Given the description of an element on the screen output the (x, y) to click on. 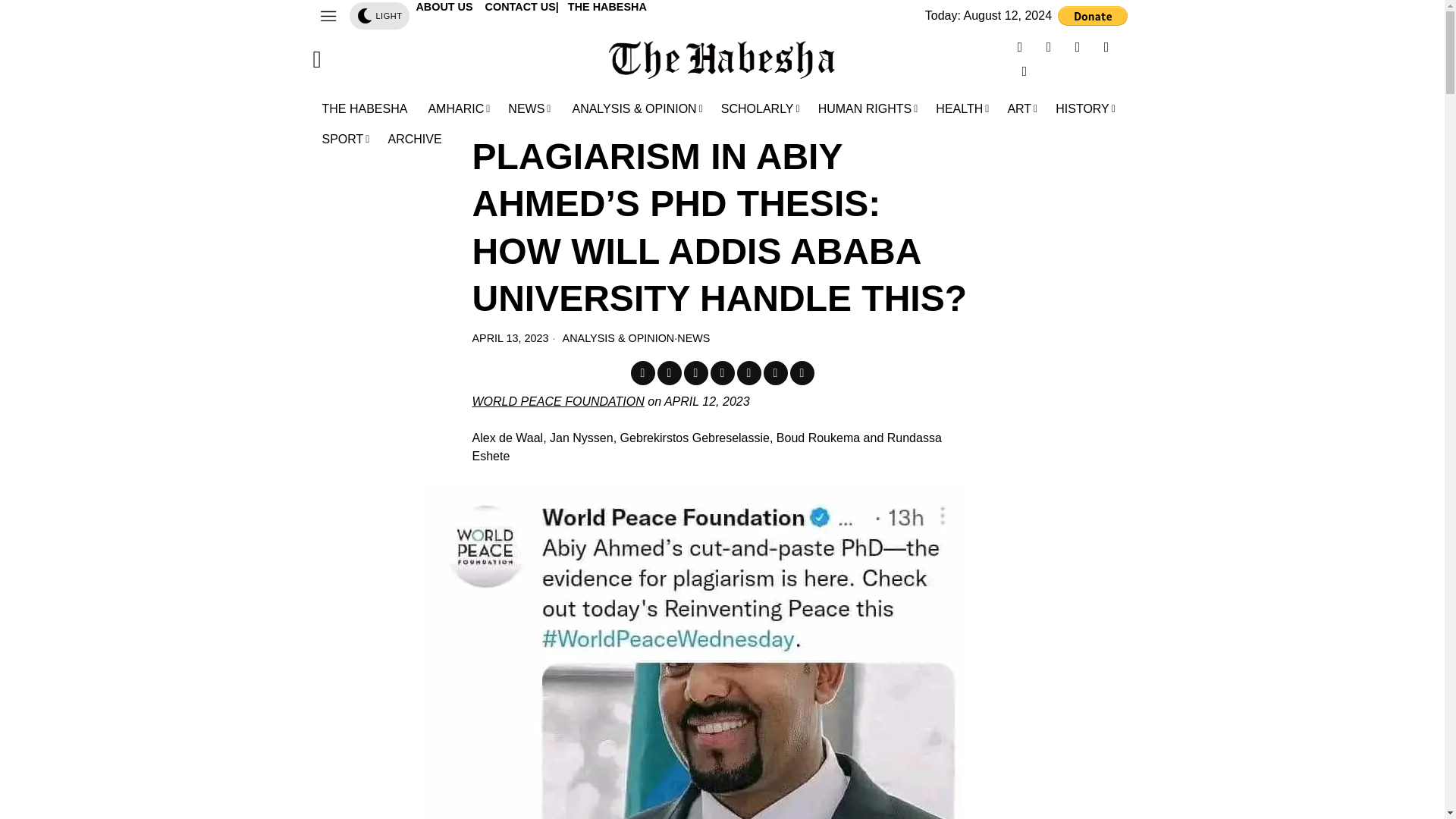
NEWS (529, 109)
Posts by World Peace Foundation (557, 400)
THE HABESHA (366, 109)
ABOUT US (445, 6)
AMHARIC (459, 109)
13 Apr, 2023 13:33:07 (509, 337)
SCHOLARLY (760, 109)
CONTACT US (520, 6)
PayPal - The safer, easier way to pay online! (1092, 15)
Scholarly Articles (760, 109)
